Given the description of an element on the screen output the (x, y) to click on. 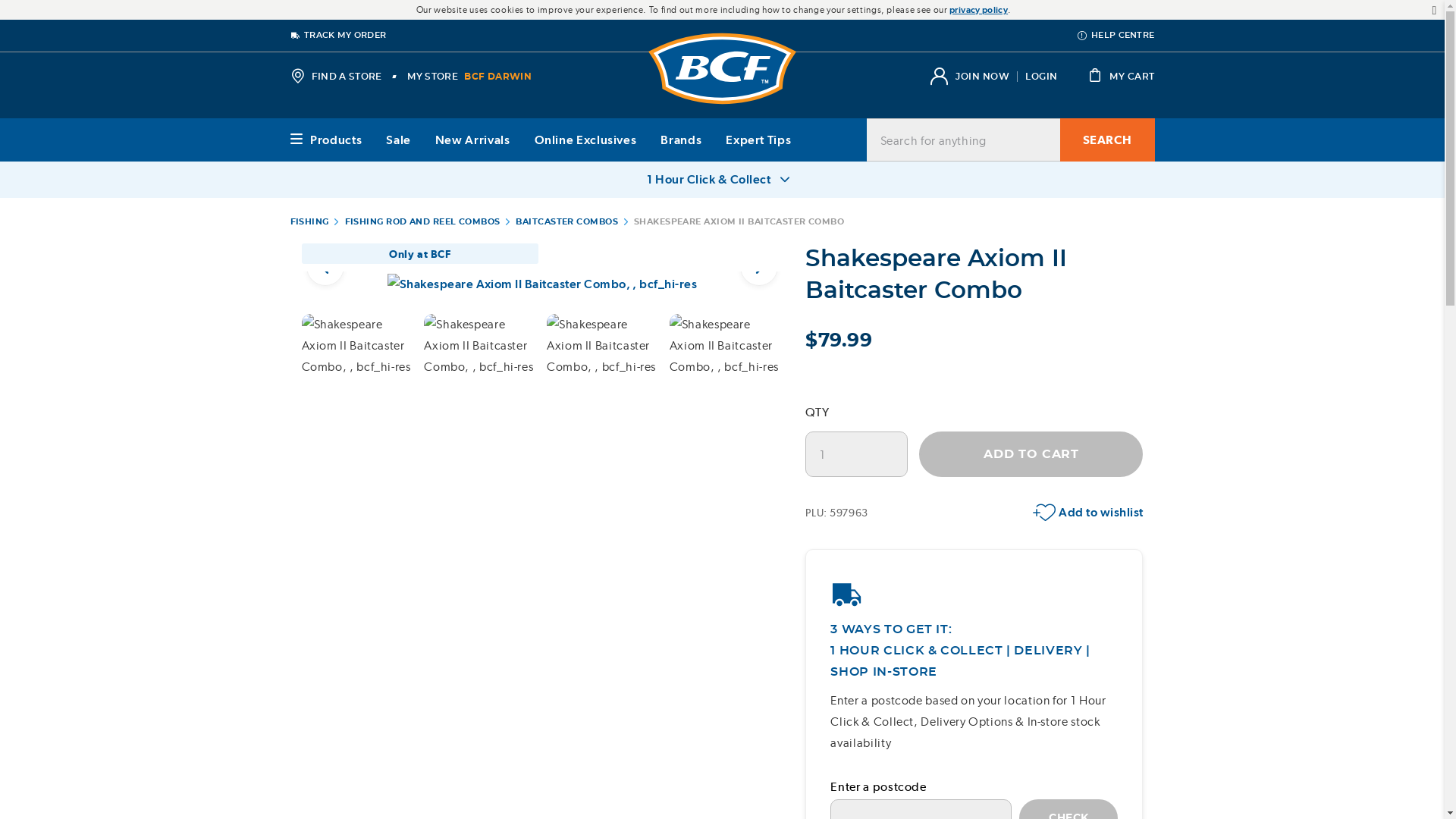
HELP CENTRE (1115, 35)
View Cart (1120, 75)
privacy policy (978, 9)
View our Privacy Policy (978, 9)
1 (856, 453)
Go to: Join Now (982, 75)
Visit the BCF'ing Experts (721, 68)
JOIN NOW (982, 75)
FIND A STORE (335, 75)
LOGIN (1041, 75)
MY CART (1120, 75)
Products (325, 138)
TRACK MY ORDER (337, 35)
BCF DARWIN (497, 75)
Go to: Login (1041, 75)
